Given the description of an element on the screen output the (x, y) to click on. 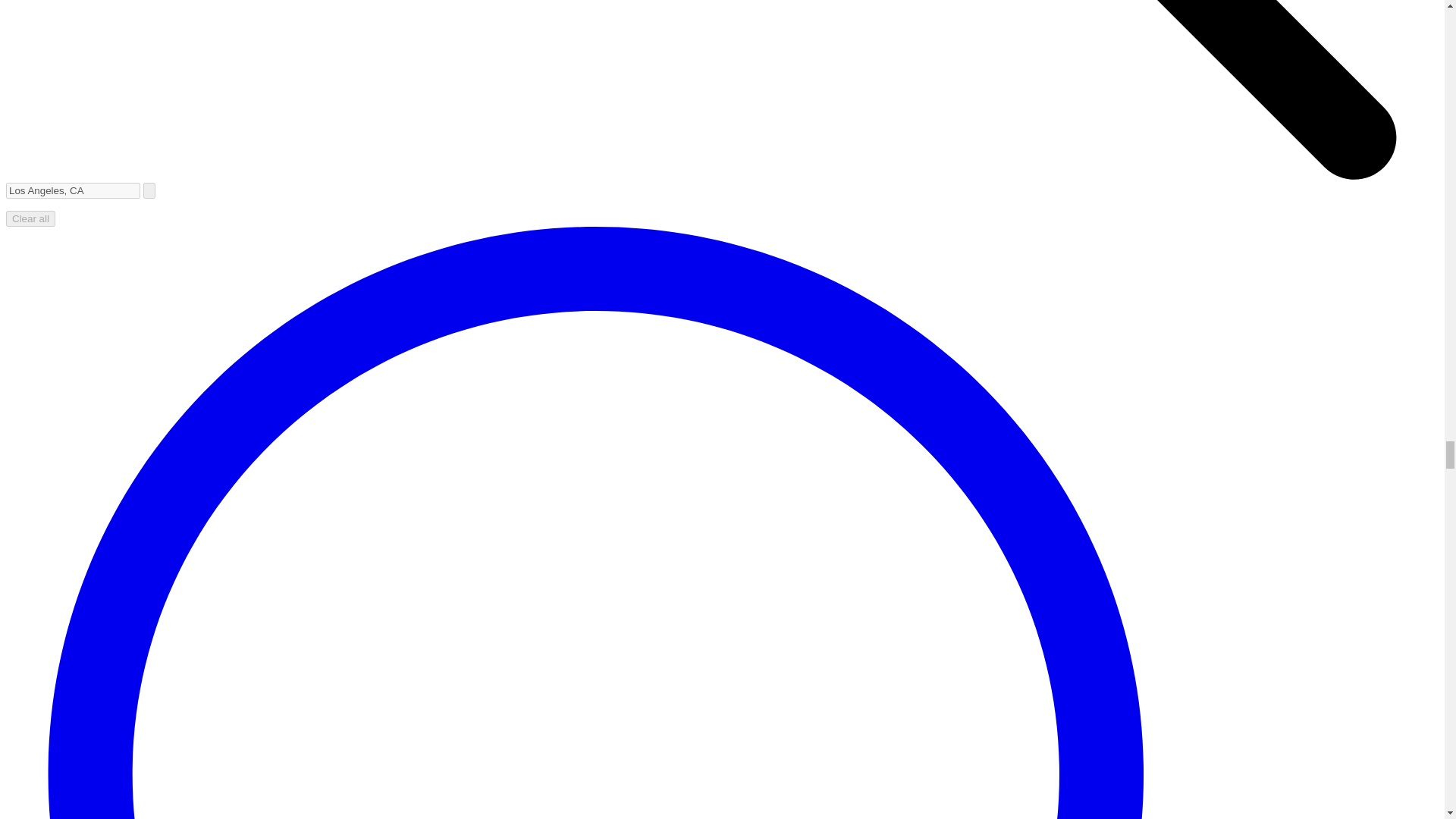
Los Angeles, CA (72, 190)
